Given the description of an element on the screen output the (x, y) to click on. 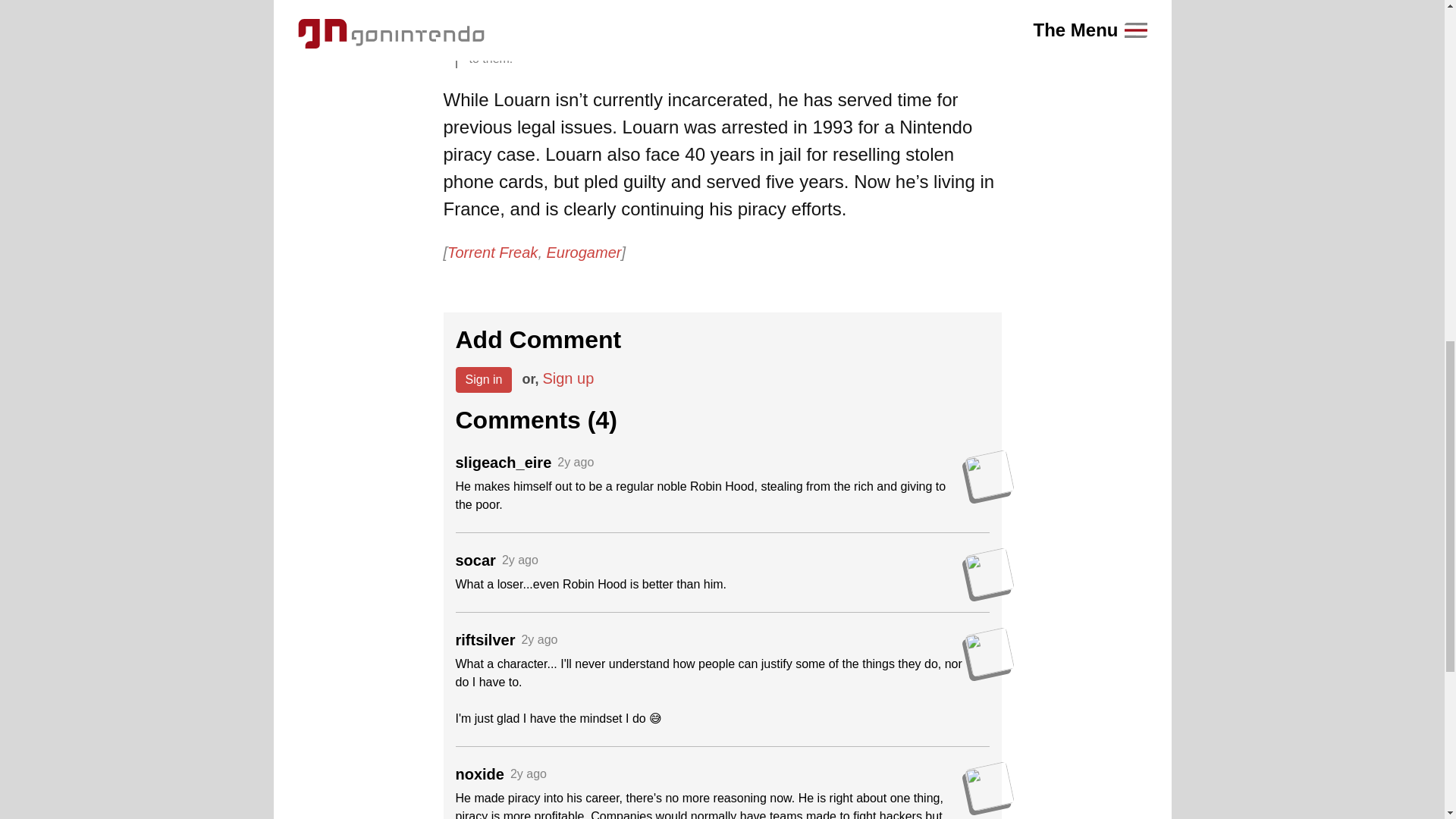
2022-06-15 03:59 AM (520, 560)
2022-06-14 08:03 PM (575, 462)
2022-06-16 03:22 AM (529, 773)
2022-06-15 06:23 AM (539, 639)
